Given the description of an element on the screen output the (x, y) to click on. 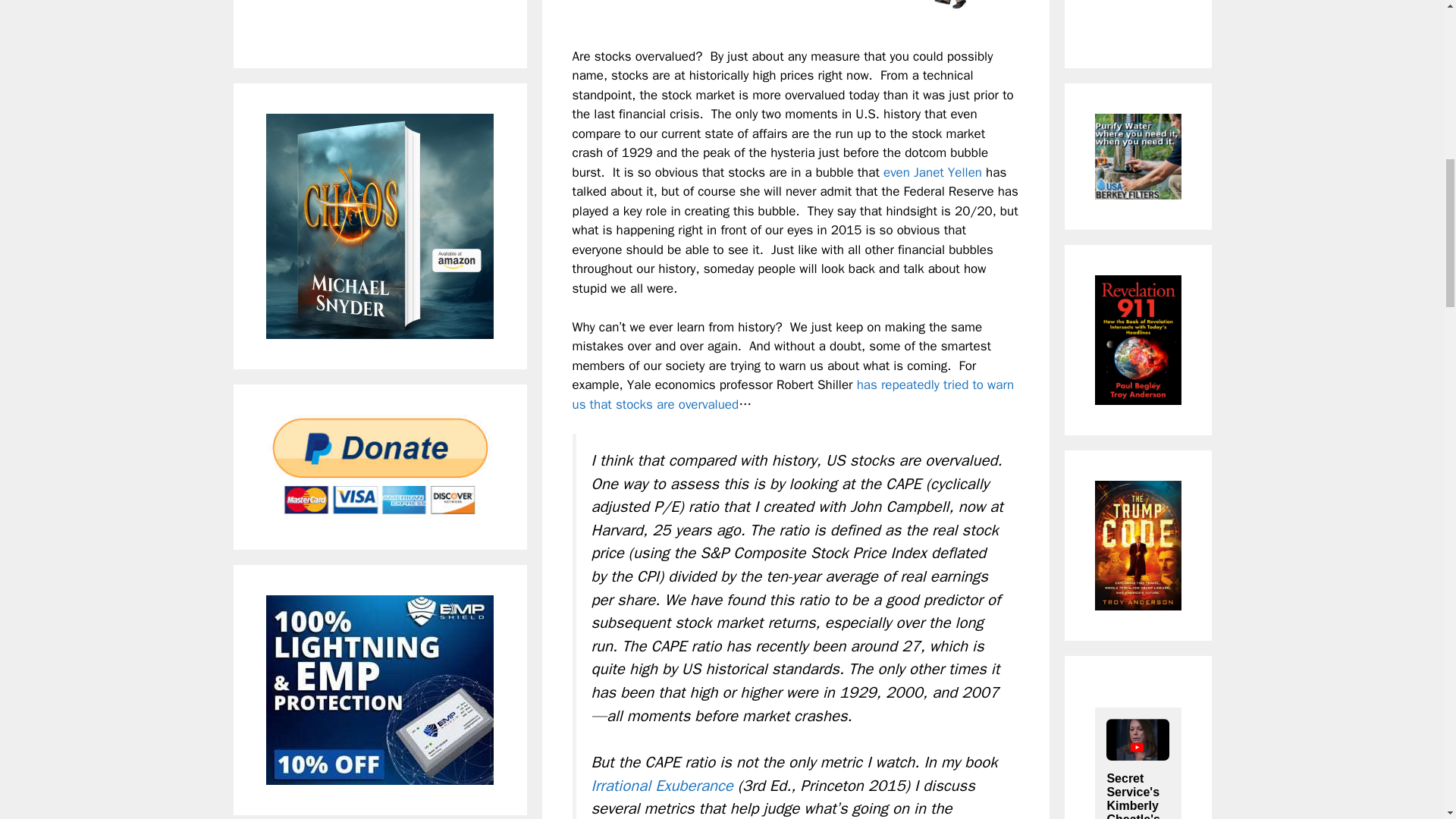
Advertisement (1154, 15)
Irrational Exuberance (662, 784)
has repeatedly tried to warn us that stocks are overvalued (792, 394)
Irrational Exuberance (662, 784)
even Janet Yellen (932, 172)
even Janet Yellen (932, 172)
has repeatedly tried to warn us that stocks are overvalued (792, 394)
Advertisement (379, 15)
